Given the description of an element on the screen output the (x, y) to click on. 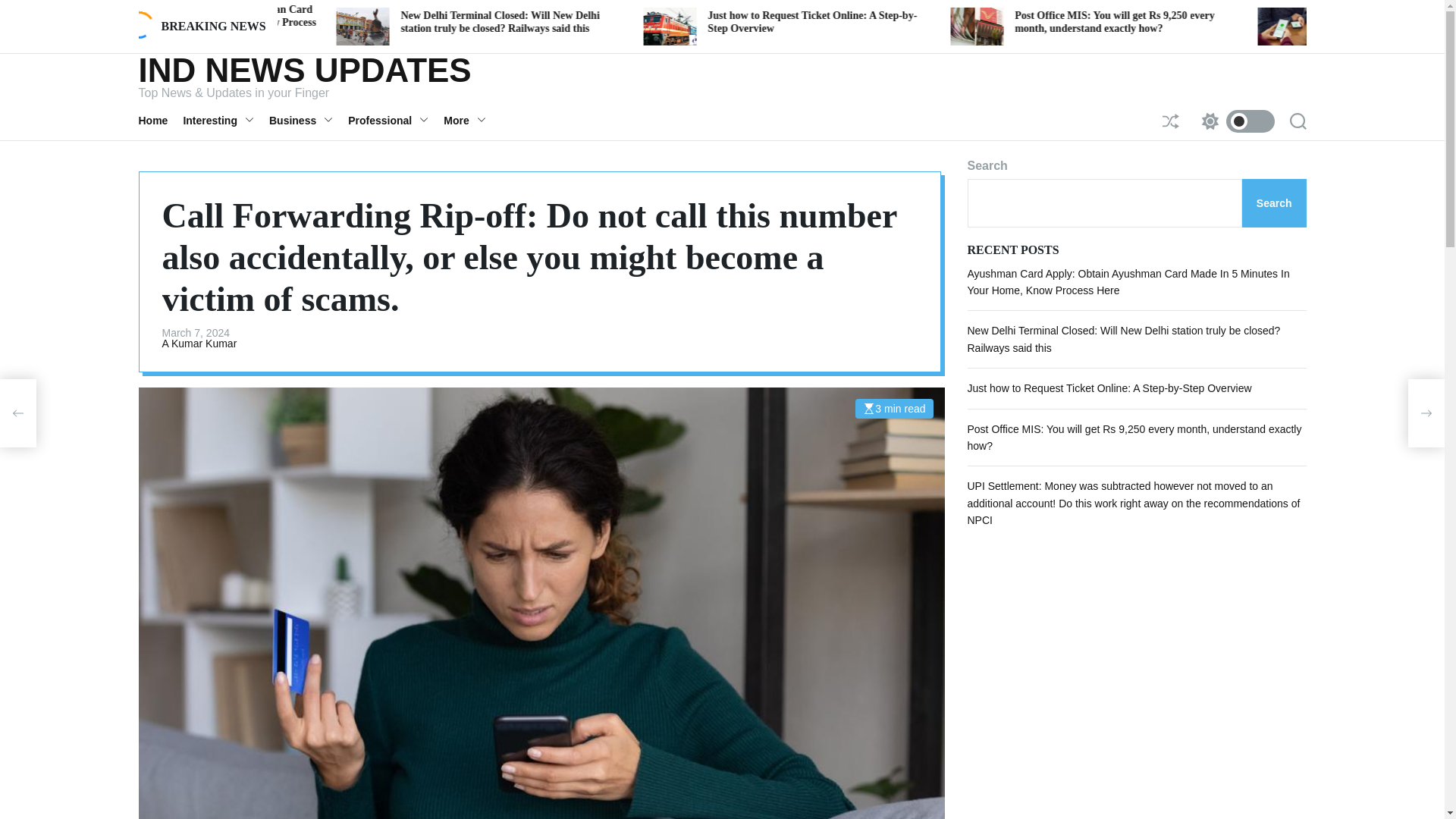
IND NEWS UPDATES (304, 70)
Interesting (226, 121)
Home (160, 121)
Just how to Request Ticket Online: A Step-by-Step Overview (1061, 21)
